Given the description of an element on the screen output the (x, y) to click on. 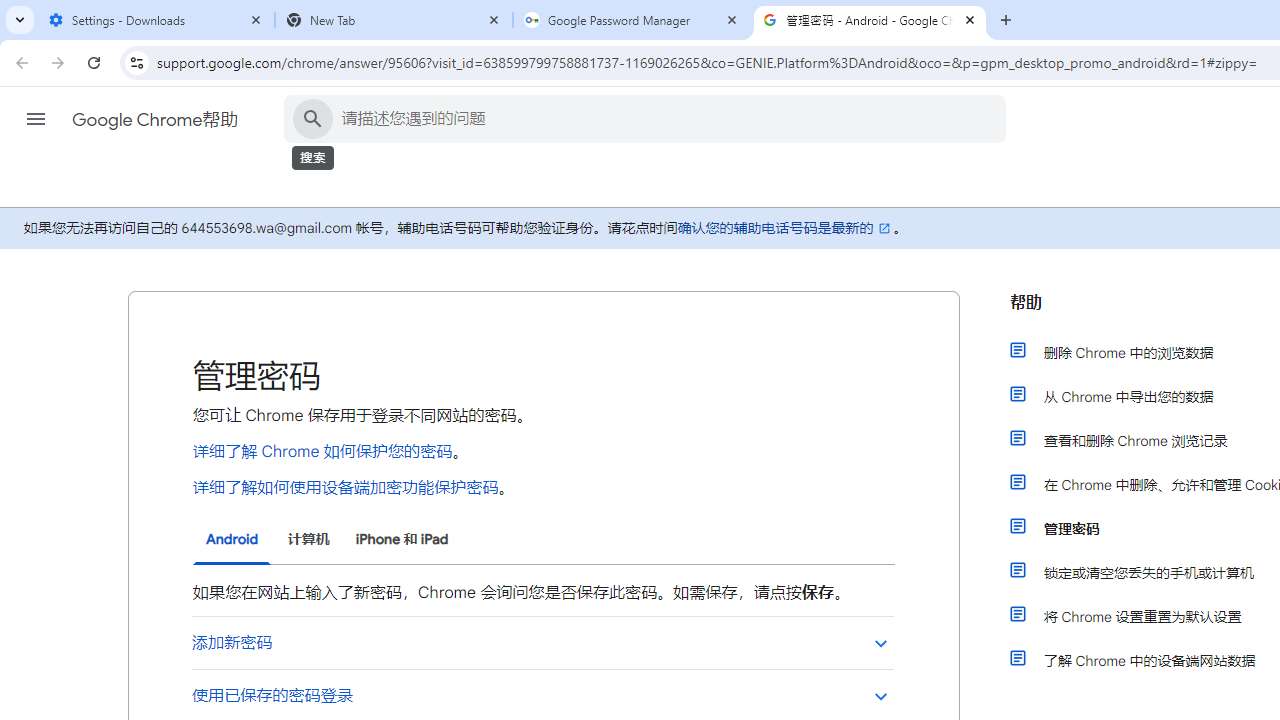
Google Password Manager (632, 20)
